Given the description of an element on the screen output the (x, y) to click on. 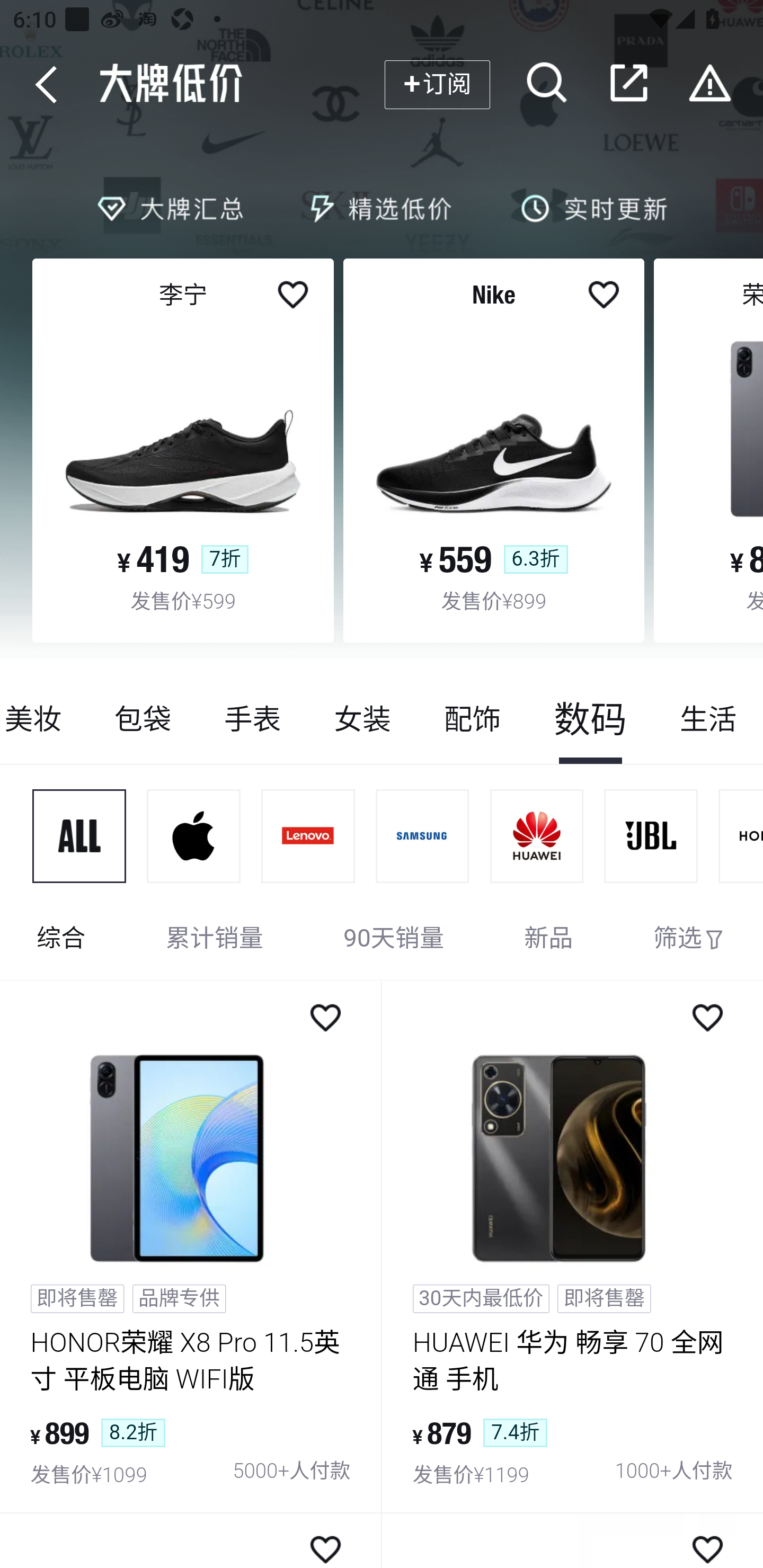
李宁 img ¥  419 7折 发售价¥599 (183, 449)
Nike img ¥  559 6.3折 发售价¥899 (493, 449)
美妆 (44, 719)
包袋 (142, 719)
手表 (252, 719)
女装 (362, 719)
配饰 (471, 719)
数码 (590, 719)
生活 (708, 719)
img (79, 836)
img (193, 836)
img (308, 836)
img (422, 836)
img (537, 836)
img (651, 836)
综合 (60, 939)
累计销量 (214, 939)
90天销量 (393, 939)
新品 (547, 939)
筛选 resize,w_750 (688, 939)
